Given the description of an element on the screen output the (x, y) to click on. 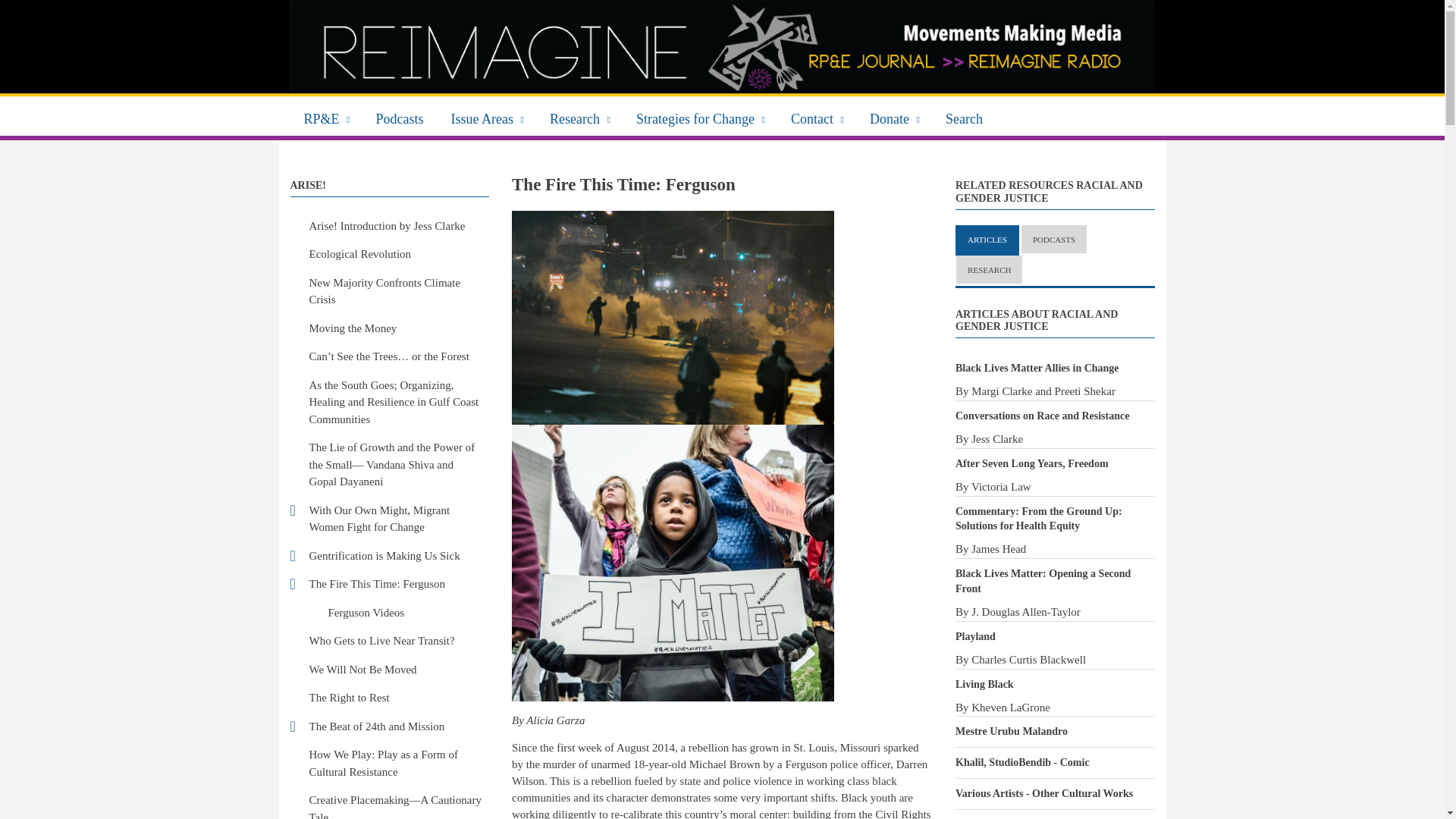
Research (579, 117)
Home (721, 45)
Podcasts (400, 117)
Strategies for Change (700, 117)
Issue Areas (486, 117)
